Given the description of an element on the screen output the (x, y) to click on. 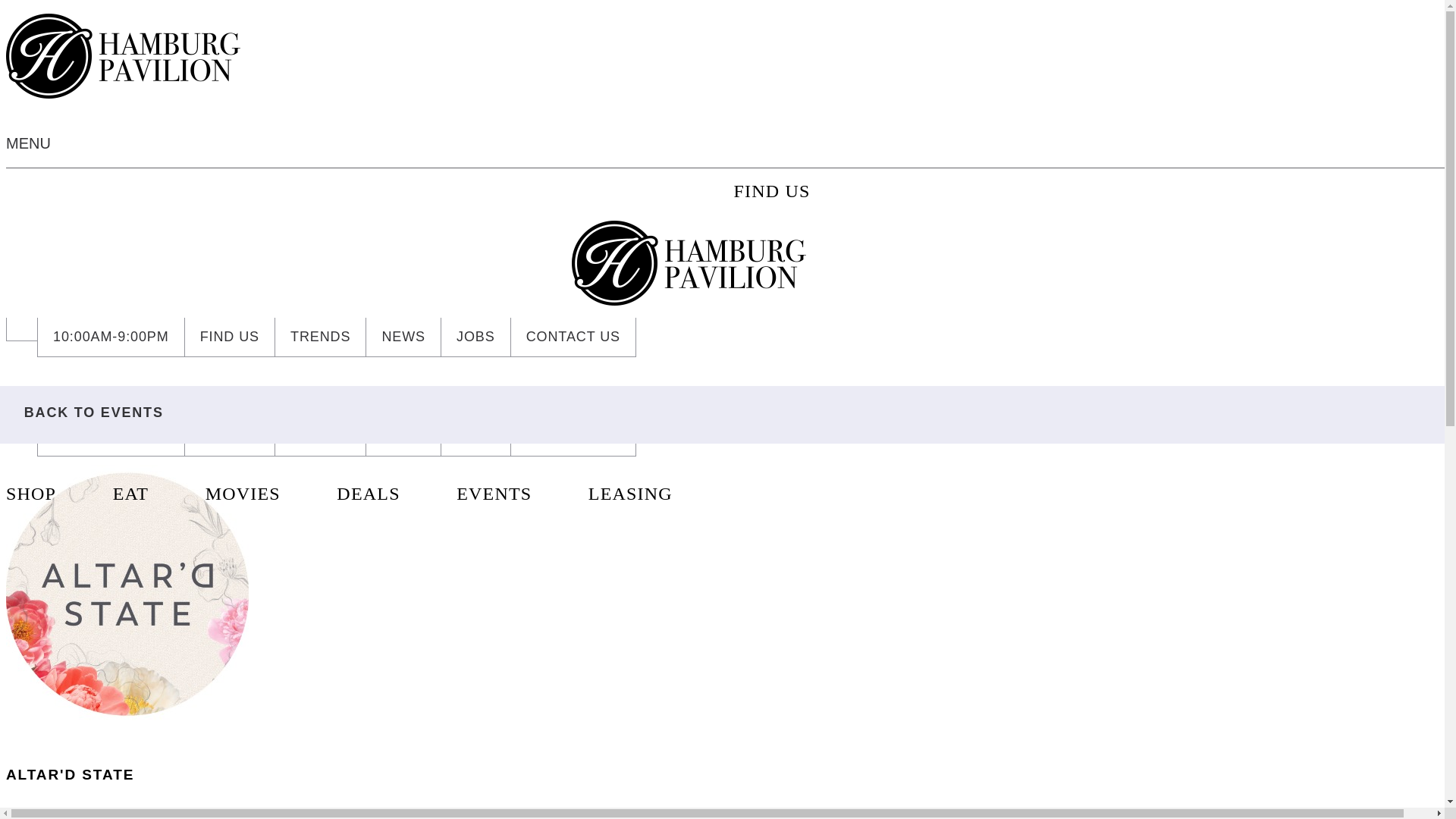
FIND US (229, 435)
SHOP (30, 493)
10:00AM-9:00PM (110, 336)
LEASING (630, 394)
LEASING (630, 493)
EAT (131, 493)
CONTACT US (572, 336)
MOVIES (243, 394)
FIND US (771, 190)
EVENTS (494, 493)
MOVIES (243, 493)
TRENDS (319, 336)
JOBS (476, 336)
NEWS (403, 336)
DEALS (367, 493)
